Given the description of an element on the screen output the (x, y) to click on. 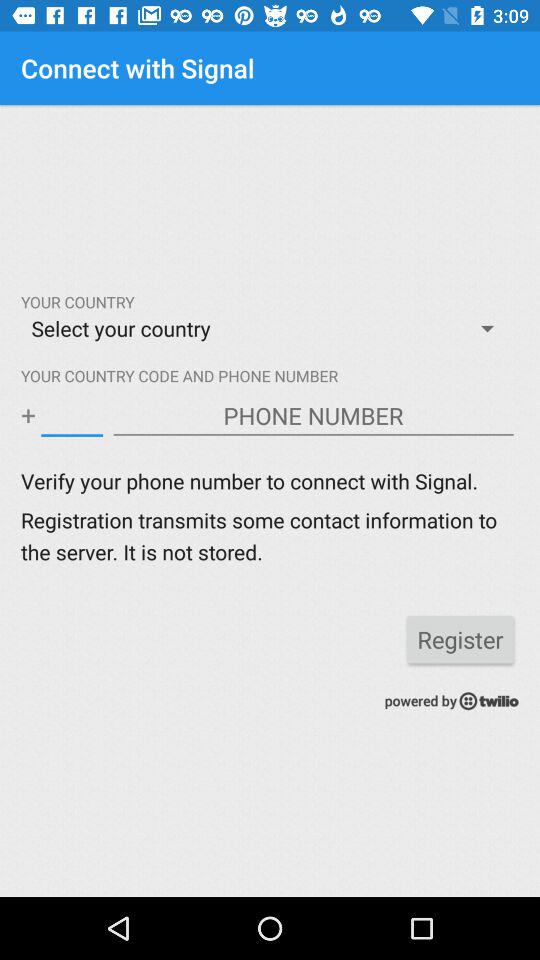
enter area code (72, 415)
